Given the description of an element on the screen output the (x, y) to click on. 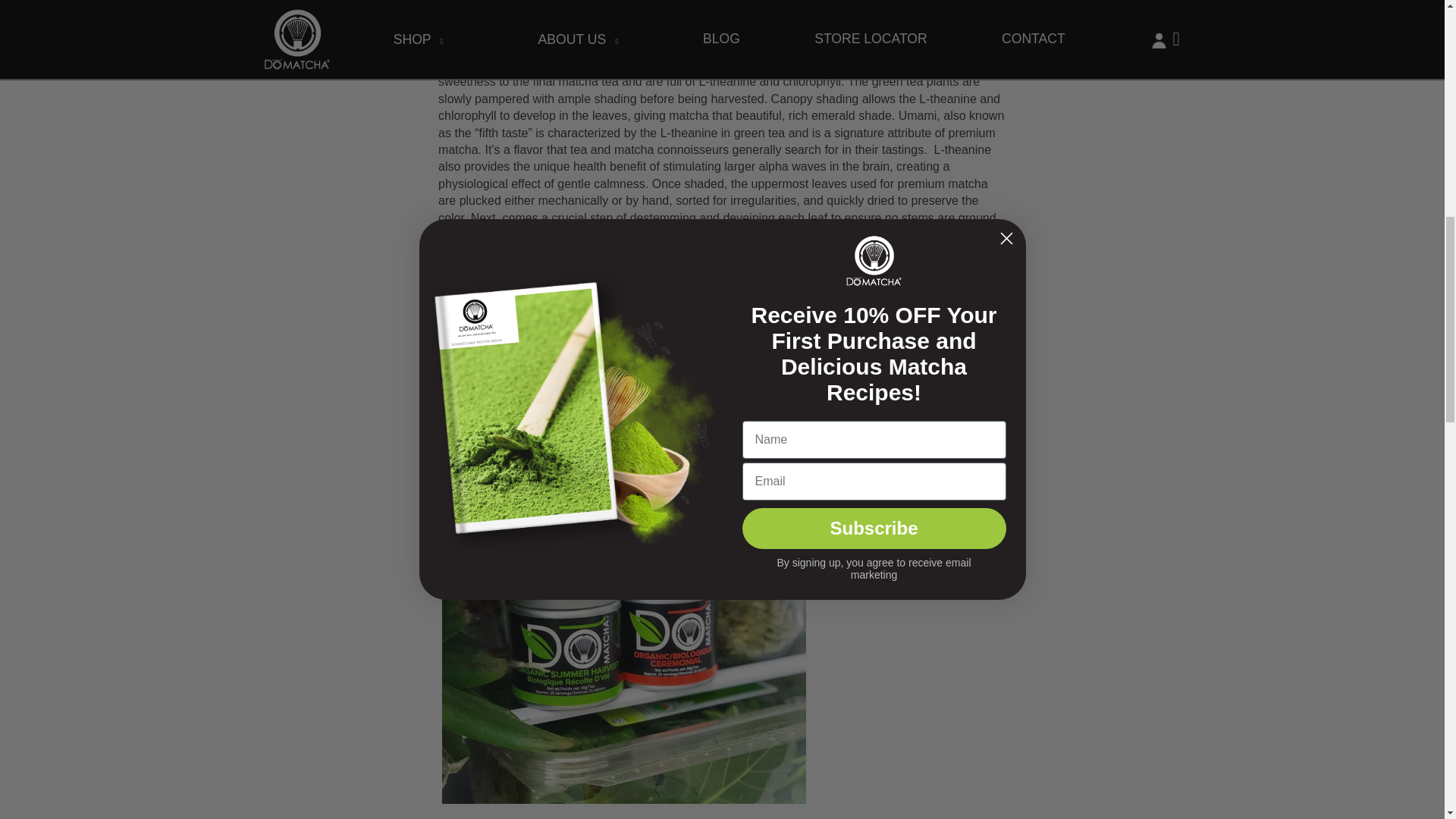
tastings (902, 149)
